Given the description of an element on the screen output the (x, y) to click on. 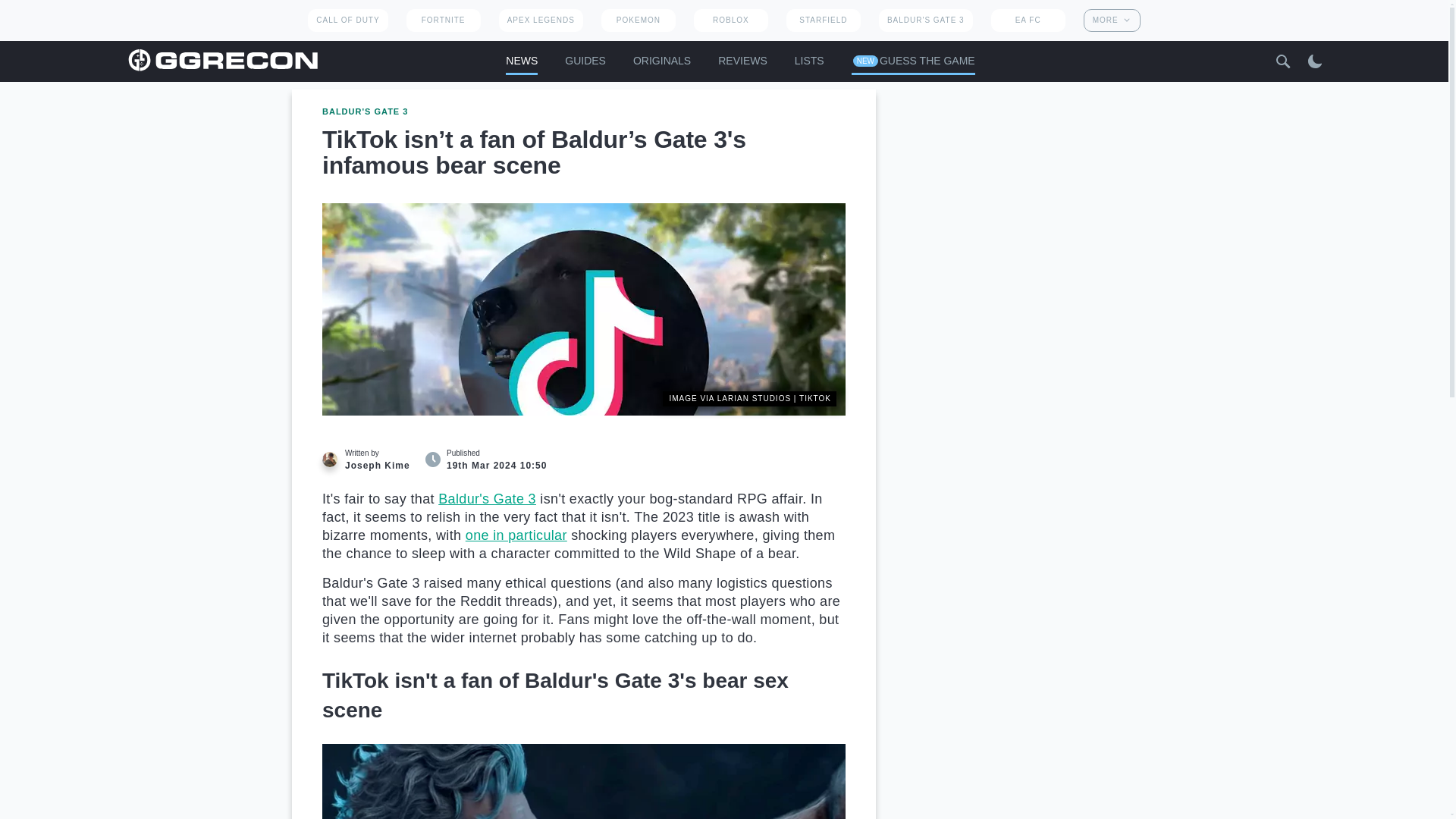
EA FC (1028, 20)
POKEMON (638, 20)
ROBLOX (731, 20)
authorlink (369, 459)
APEX LEGENDS (541, 20)
STARFIELD (823, 20)
Joseph Kime (329, 459)
CALL OF DUTY (347, 20)
FORTNITE (443, 20)
BALDUR'S GATE 3 (925, 20)
